Given the description of an element on the screen output the (x, y) to click on. 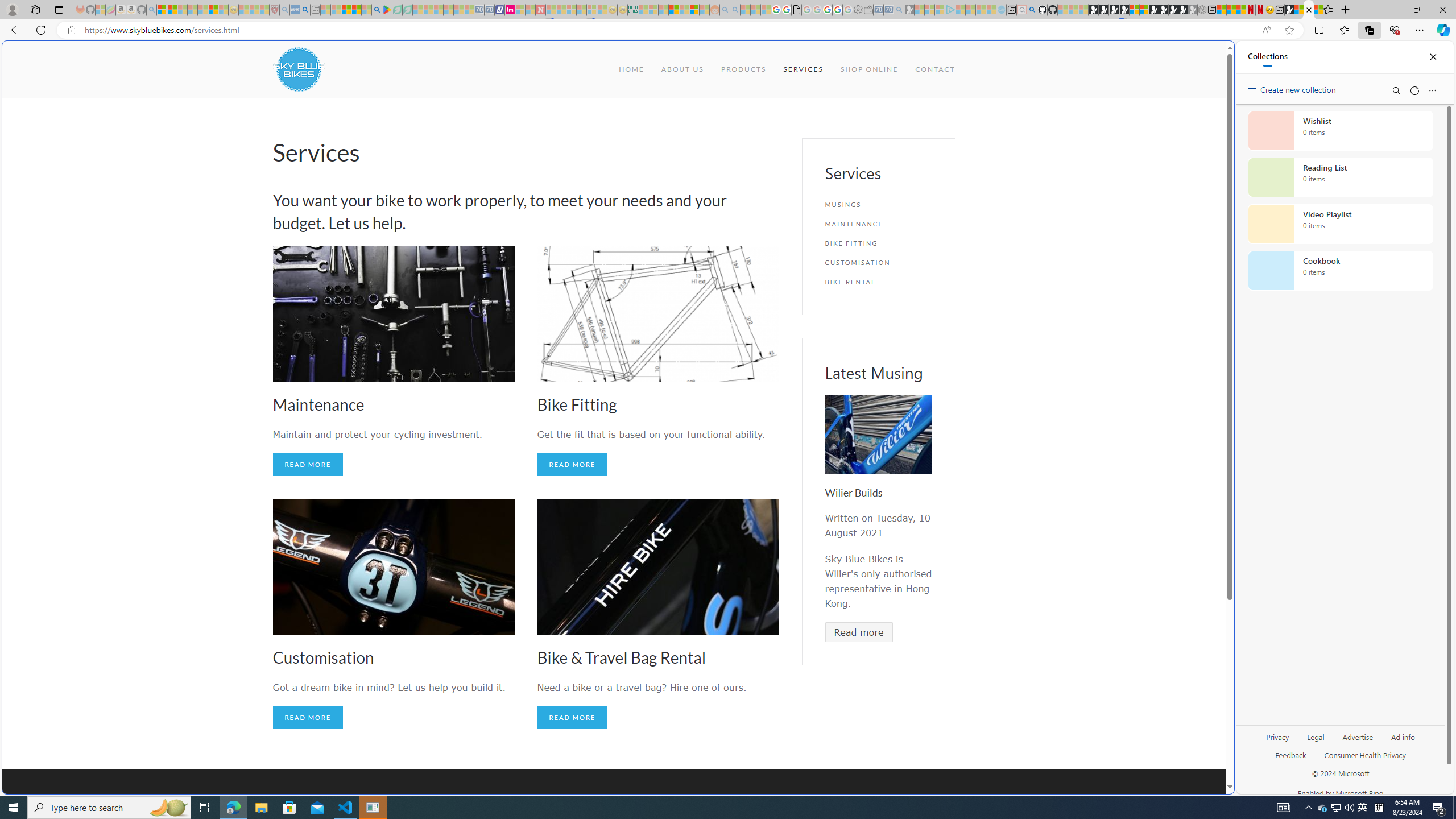
Class: wk-position-cover (877, 434)
Search or enter web address (922, 108)
CONTACT (935, 68)
ABOUT US (681, 68)
